Given the description of an element on the screen output the (x, y) to click on. 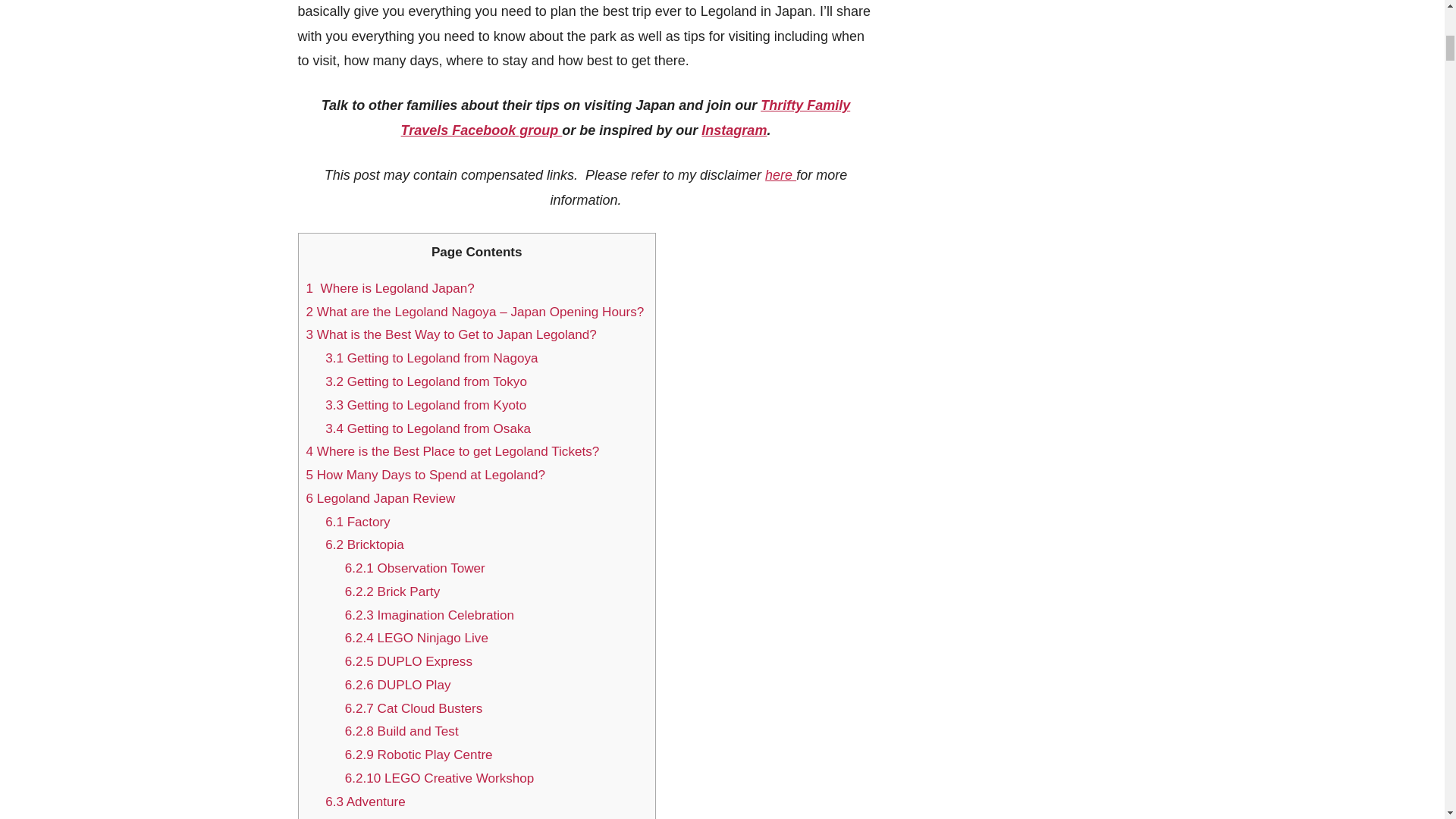
3.2 Getting to Legoland from Tokyo  (427, 381)
3.3 Getting to Legoland from Kyoto  (426, 405)
Thrifty Family Travels Facebook group (625, 117)
3.4 Getting to Legoland from Osaka  (429, 428)
1  Where is Legoland Japan?  (392, 288)
4 Where is the Best Place to get Legoland Tickets?  (454, 451)
here  (780, 174)
Instagram (734, 130)
3.1 Getting to Legoland from Nagoya (430, 358)
3 What is the Best Way to Get to Japan Legoland?  (452, 334)
